Given the description of an element on the screen output the (x, y) to click on. 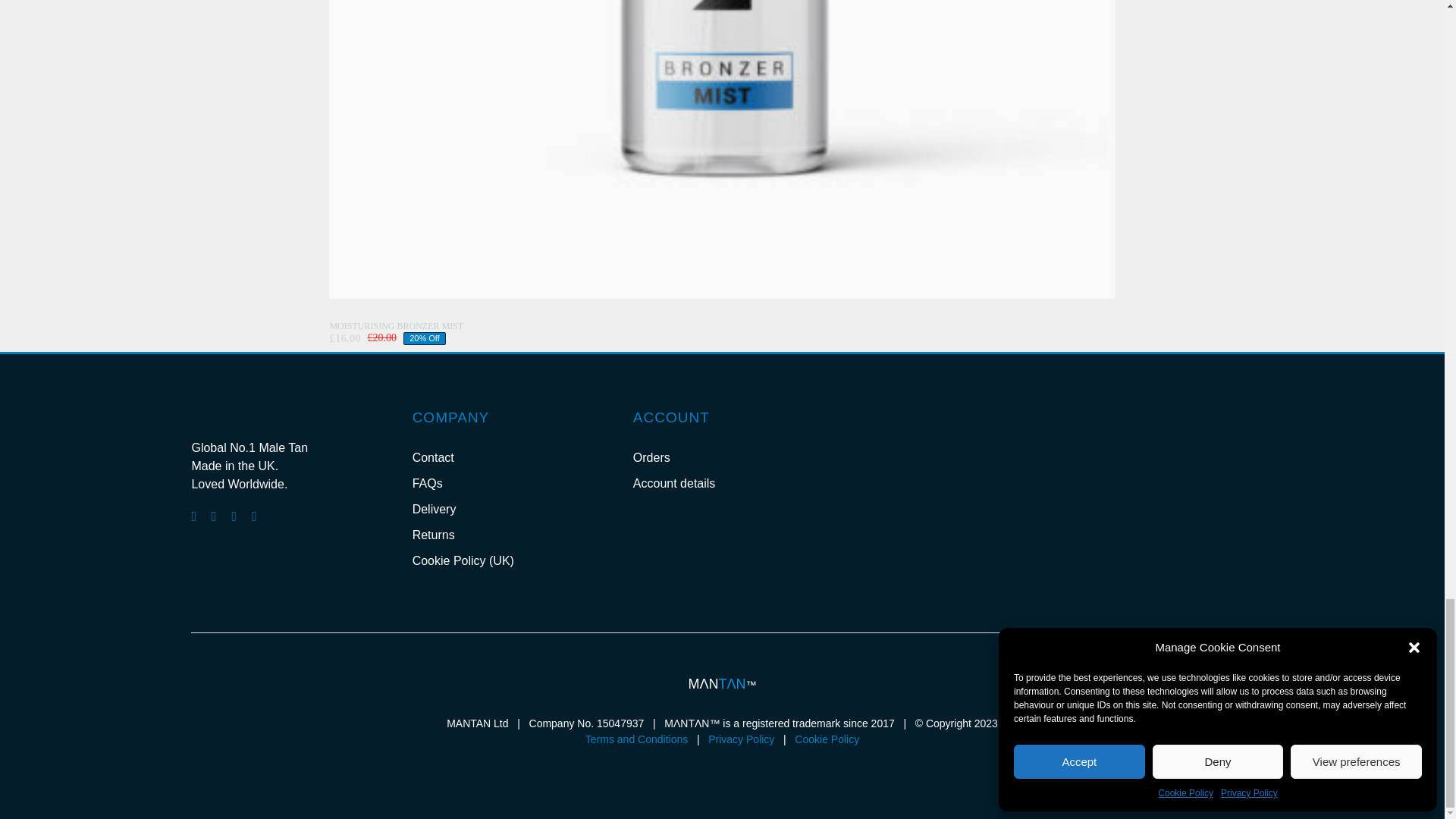
Payment options (722, 593)
icons-mt2 (1052, 426)
